Given the description of an element on the screen output the (x, y) to click on. 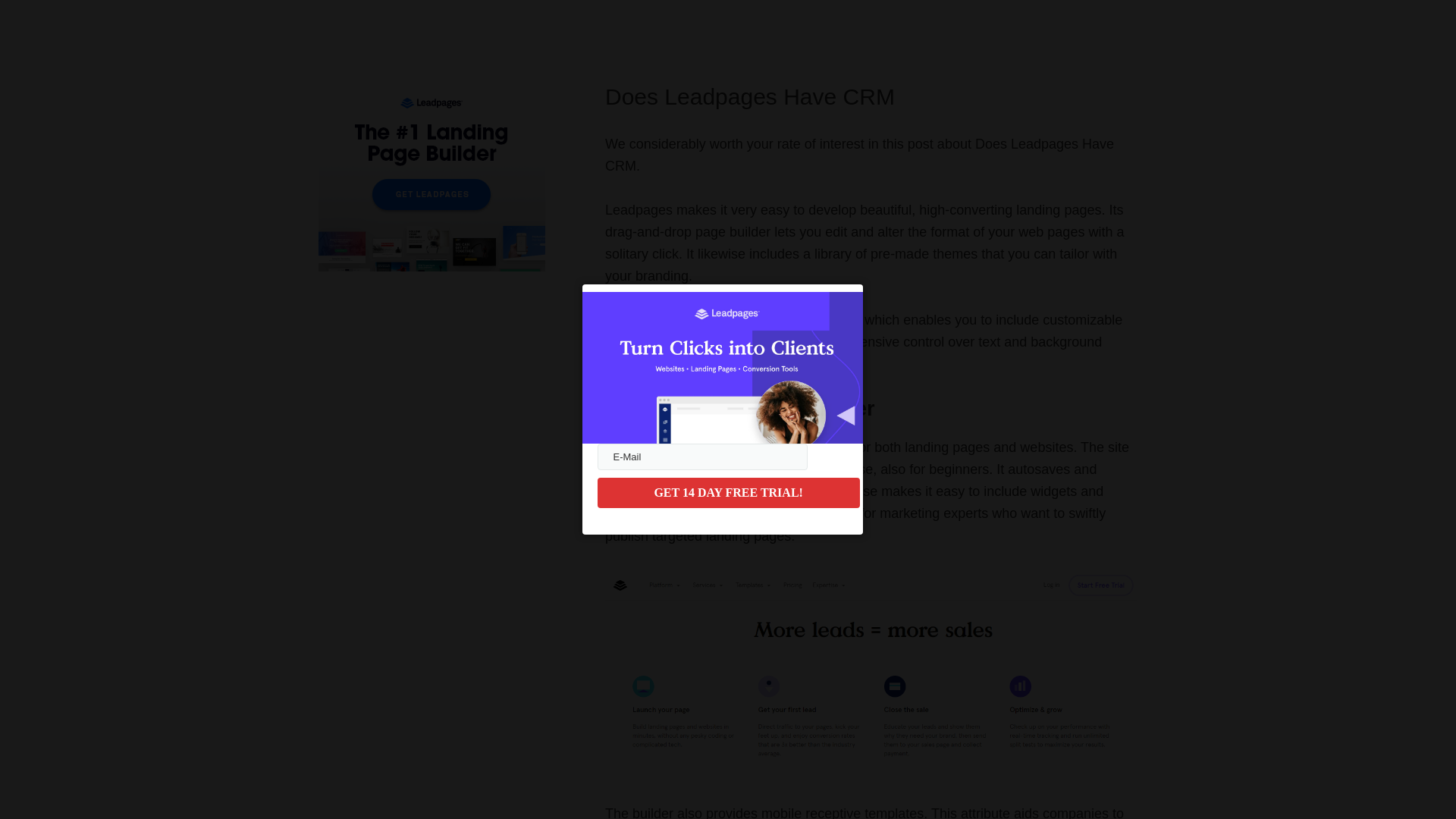
GET 14 DAY FREE TRIAL! (728, 492)
GET 14 DAY FREE TRIAL! (728, 492)
